Given the description of an element on the screen output the (x, y) to click on. 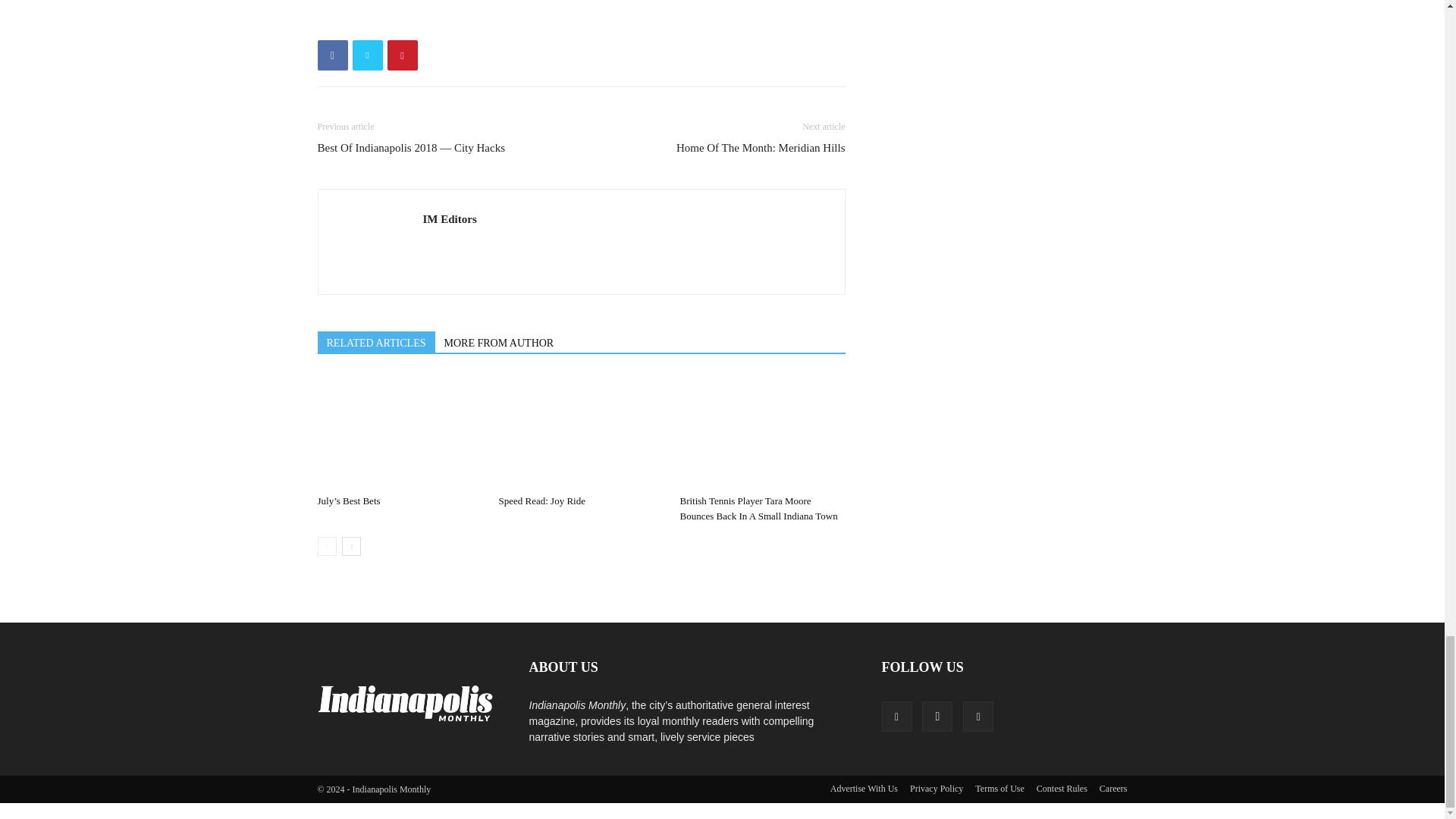
Speed Read: Joy Ride (580, 431)
Speed Read: Joy Ride (541, 500)
